Given the description of an element on the screen output the (x, y) to click on. 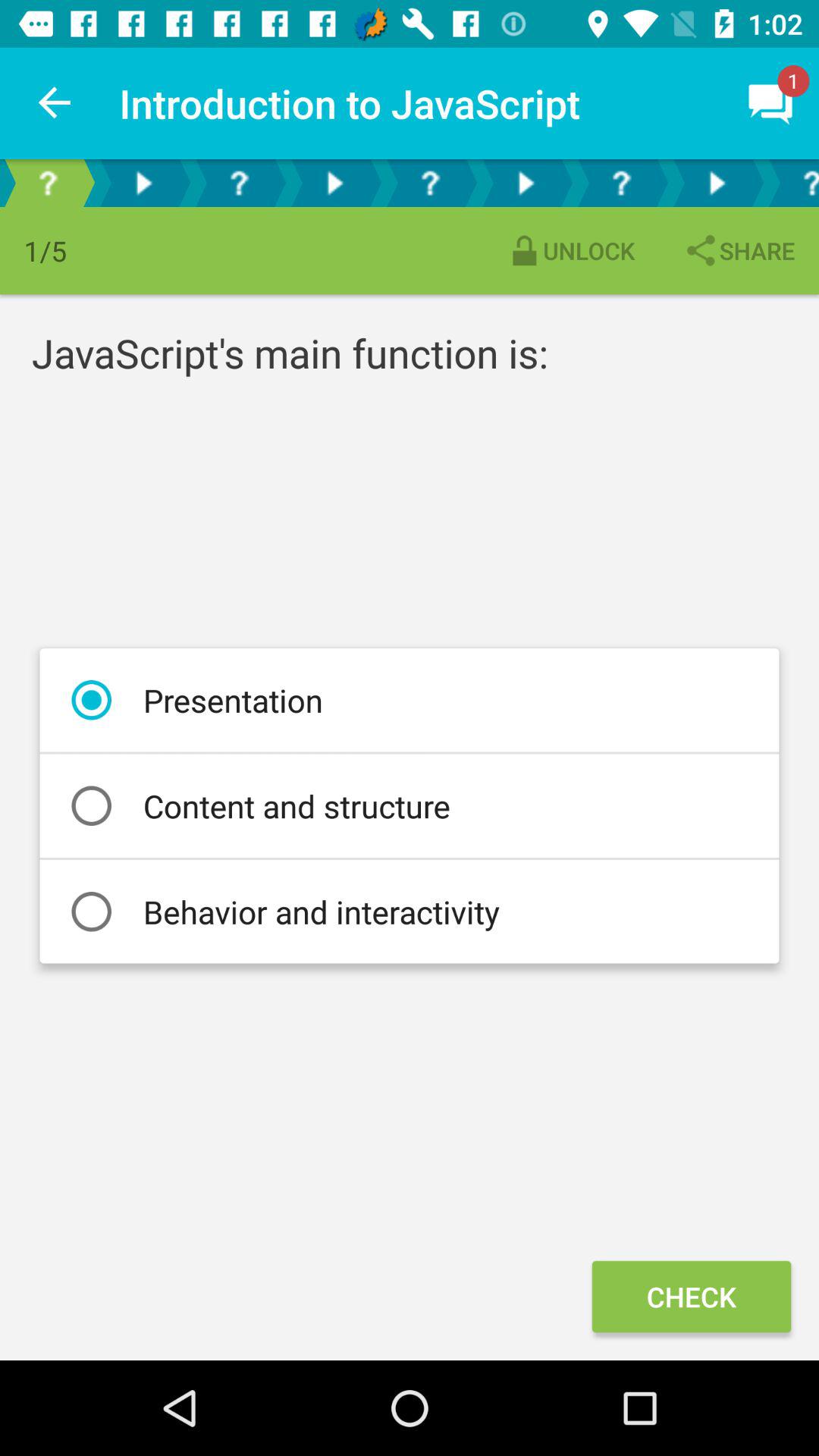
play option (143, 183)
